Given the description of an element on the screen output the (x, y) to click on. 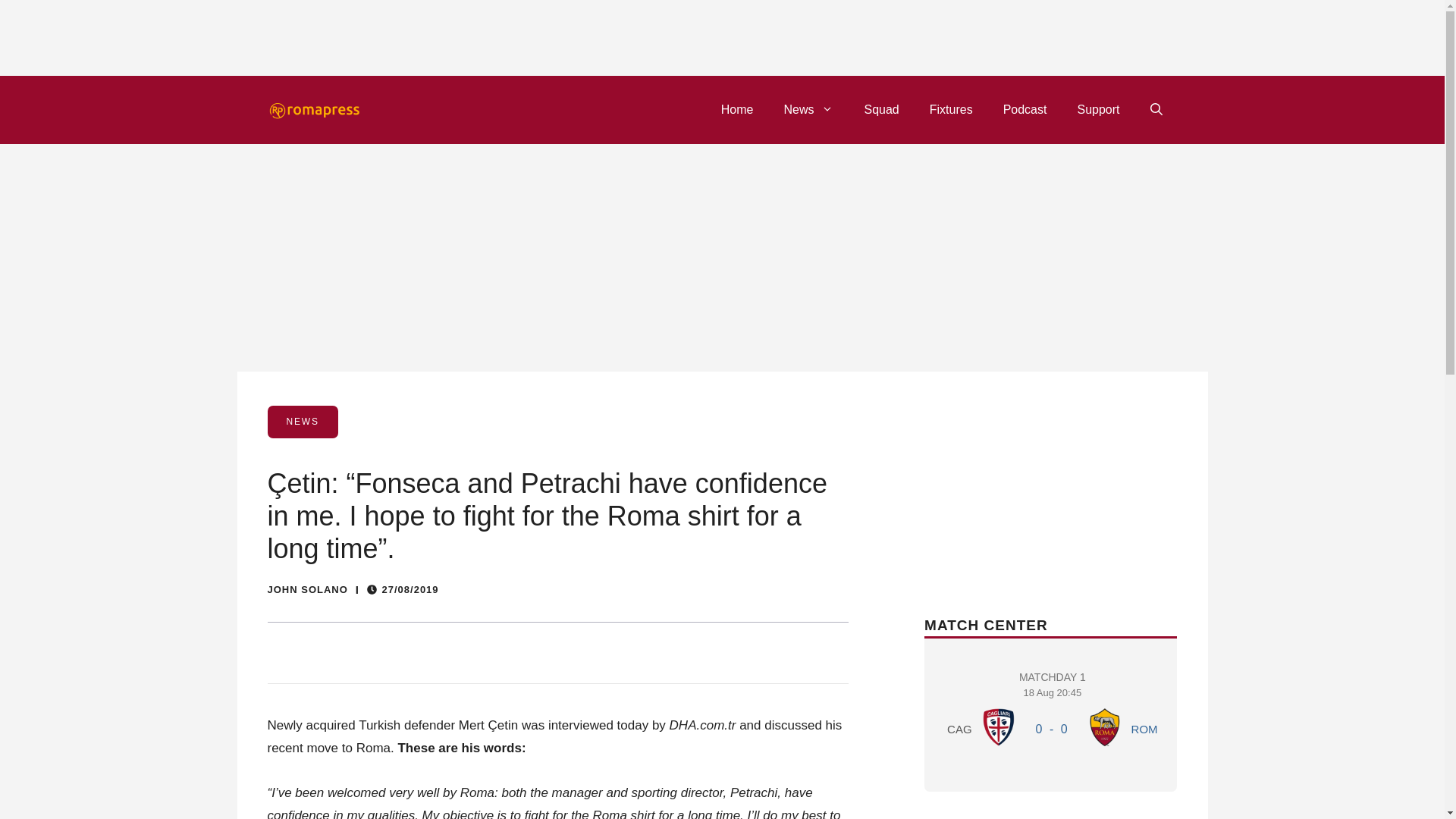
0 - 0 (1051, 728)
Cagliari (998, 727)
Support (1097, 109)
Squad (881, 109)
Roma (1105, 727)
Home (737, 109)
Podcast (1025, 109)
News (1052, 710)
Fixtures (808, 109)
